Given the description of an element on the screen output the (x, y) to click on. 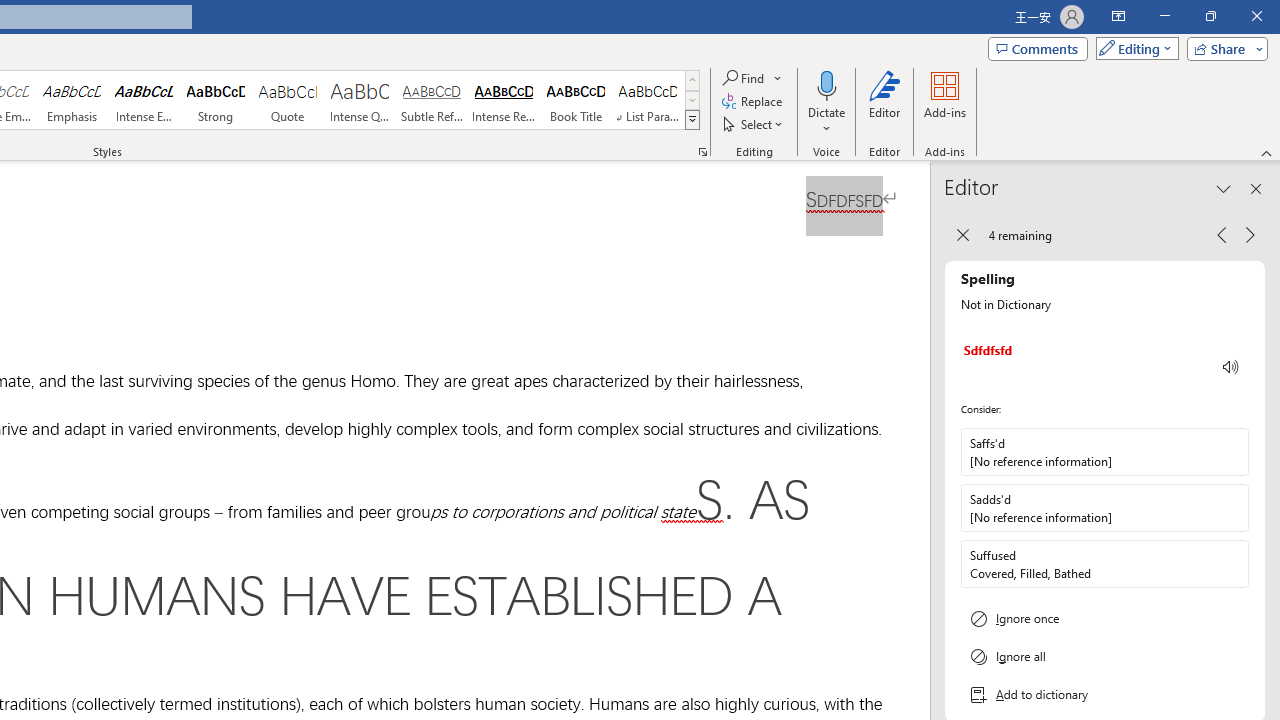
Close pane (1256, 188)
Intense Emphasis (143, 100)
